Given the description of an element on the screen output the (x, y) to click on. 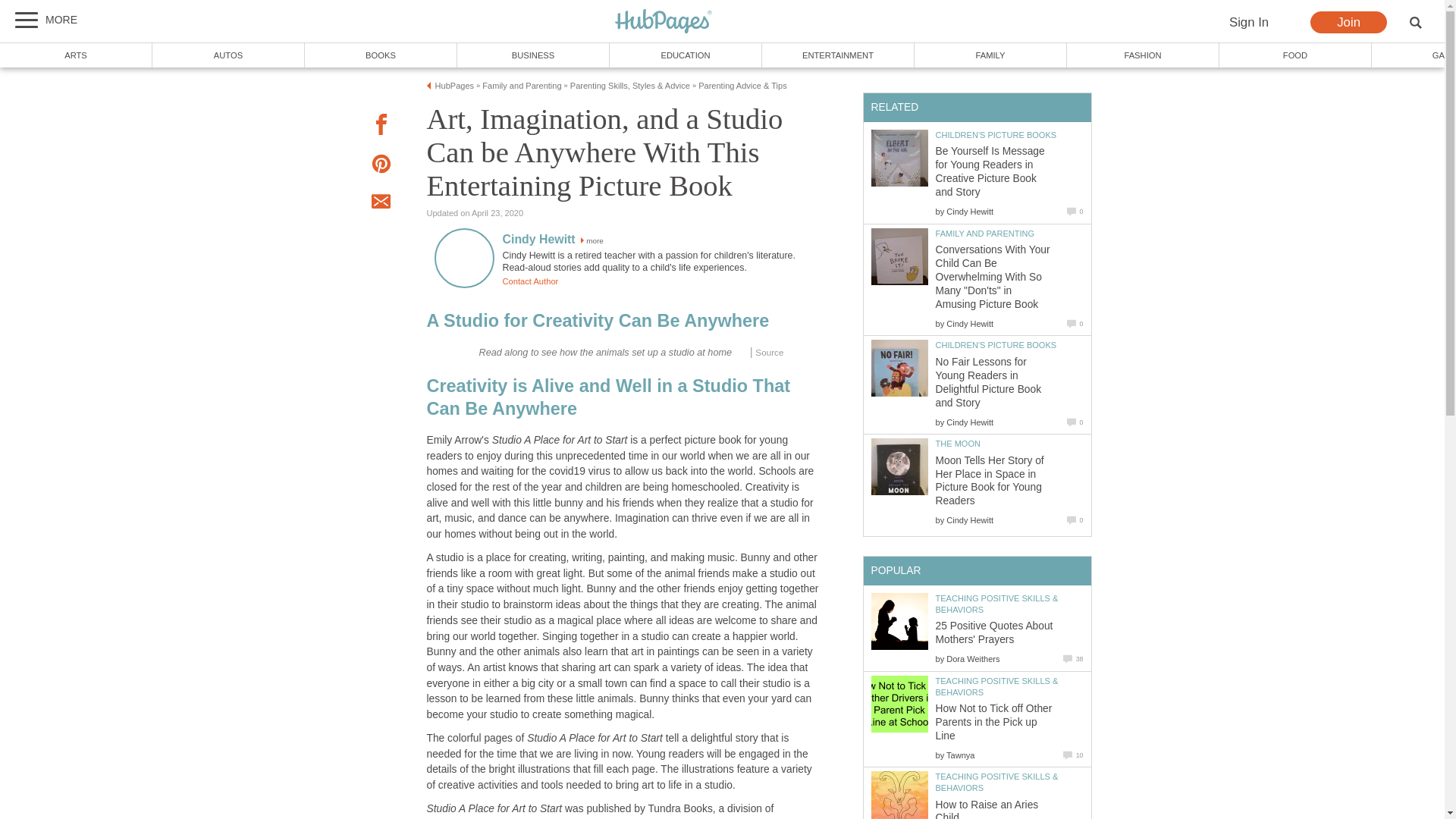
Contact Author (529, 280)
FASHION (1143, 55)
FAMILY AND PARENTING (985, 233)
FAMILY (990, 55)
How Not to Tick off Other Parents in the Pick up Line (898, 703)
HubPages (663, 22)
HubPages (454, 85)
